Given the description of an element on the screen output the (x, y) to click on. 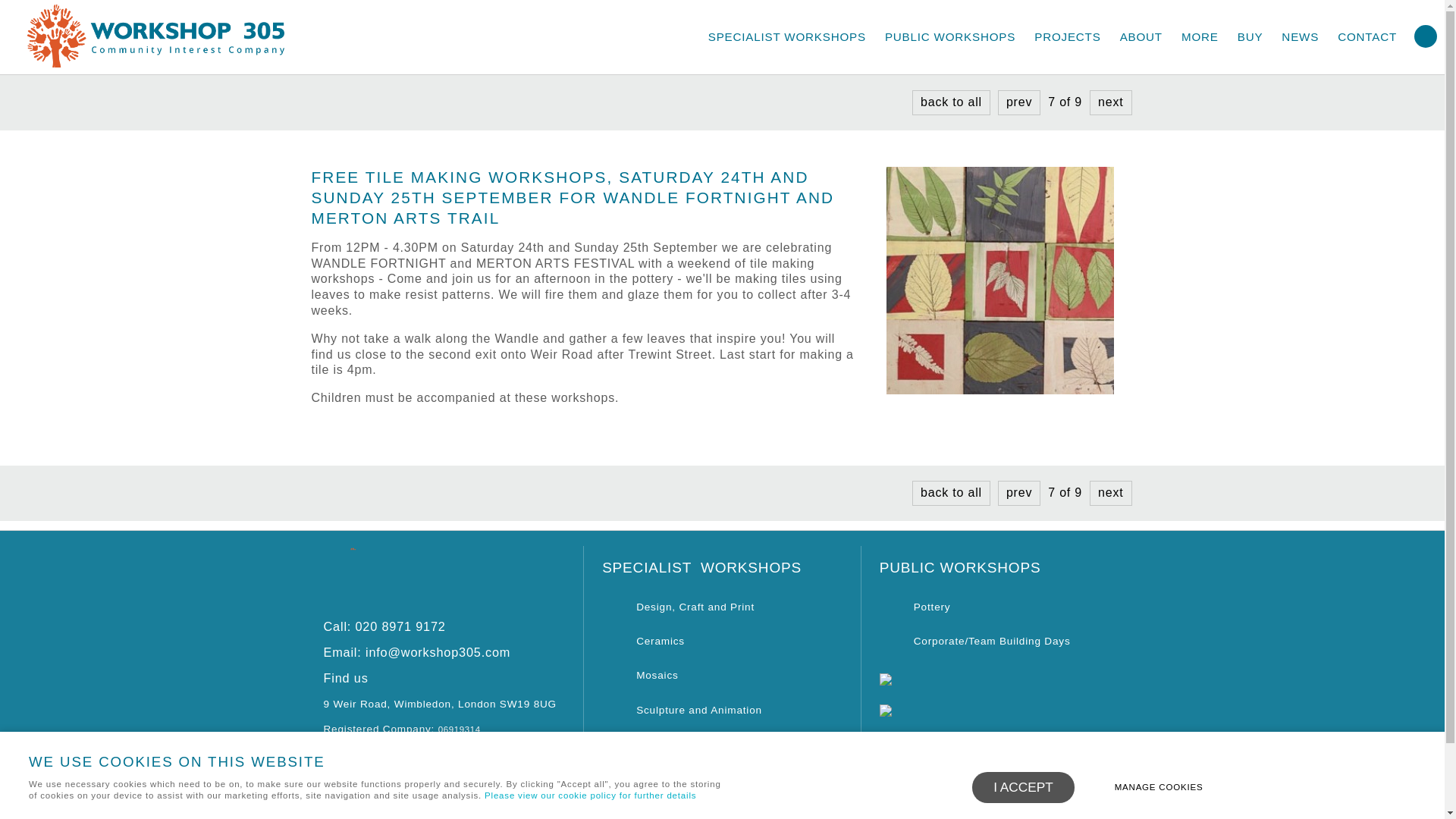
email (417, 652)
MORE (1199, 37)
next (1109, 492)
back to all (950, 492)
CONTACT (1366, 37)
tel (384, 626)
ABOUT (1141, 37)
back to all (950, 101)
next (1109, 101)
PROJECTS (1067, 37)
prev (1019, 101)
SPECIALIST WORKSHOPS (786, 37)
Instagram (377, 807)
PUBLIC WORKSHOPS (950, 37)
Call: 020 8971 9172 (384, 626)
